Given the description of an element on the screen output the (x, y) to click on. 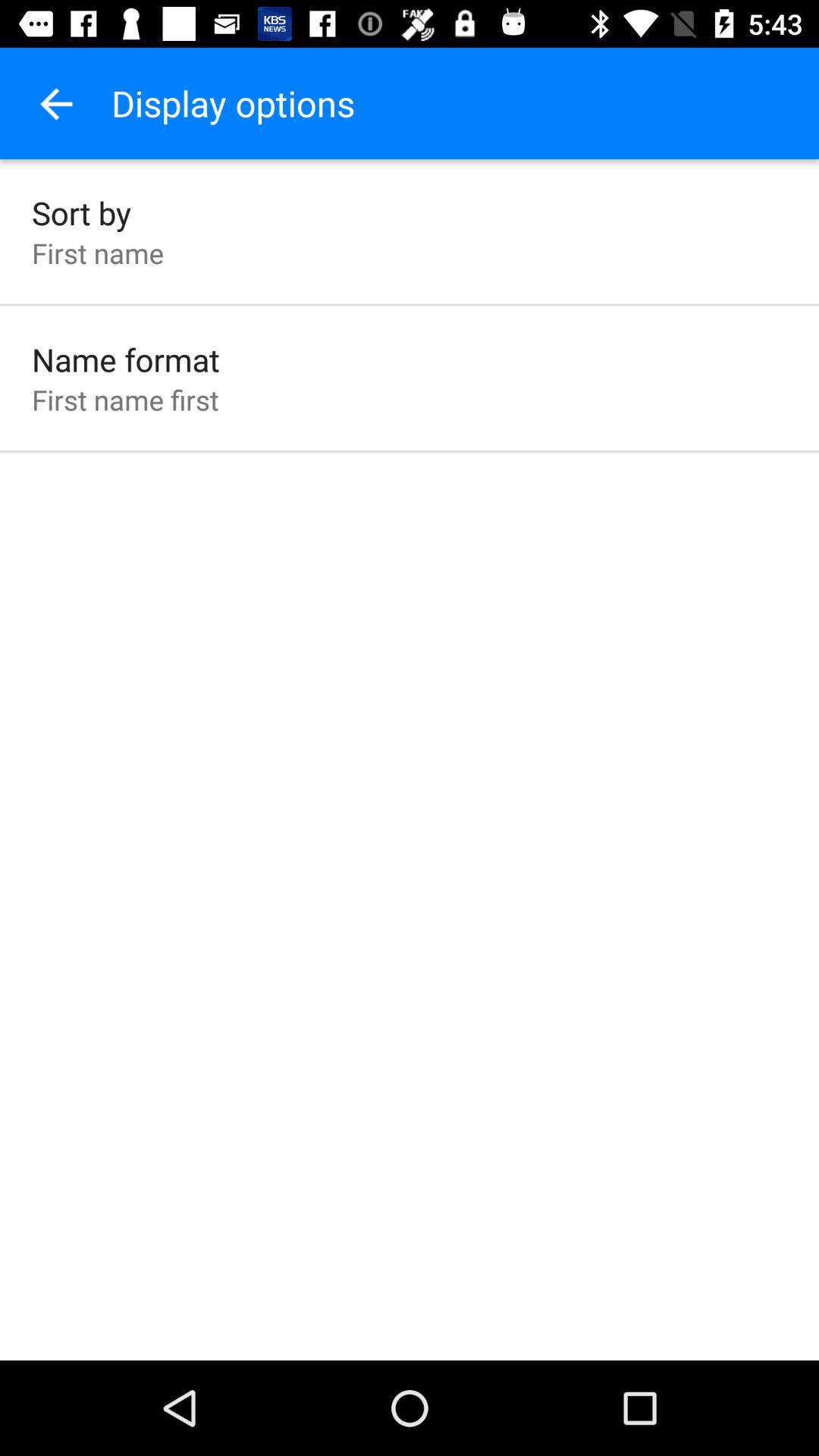
click icon below first name icon (125, 359)
